Given the description of an element on the screen output the (x, y) to click on. 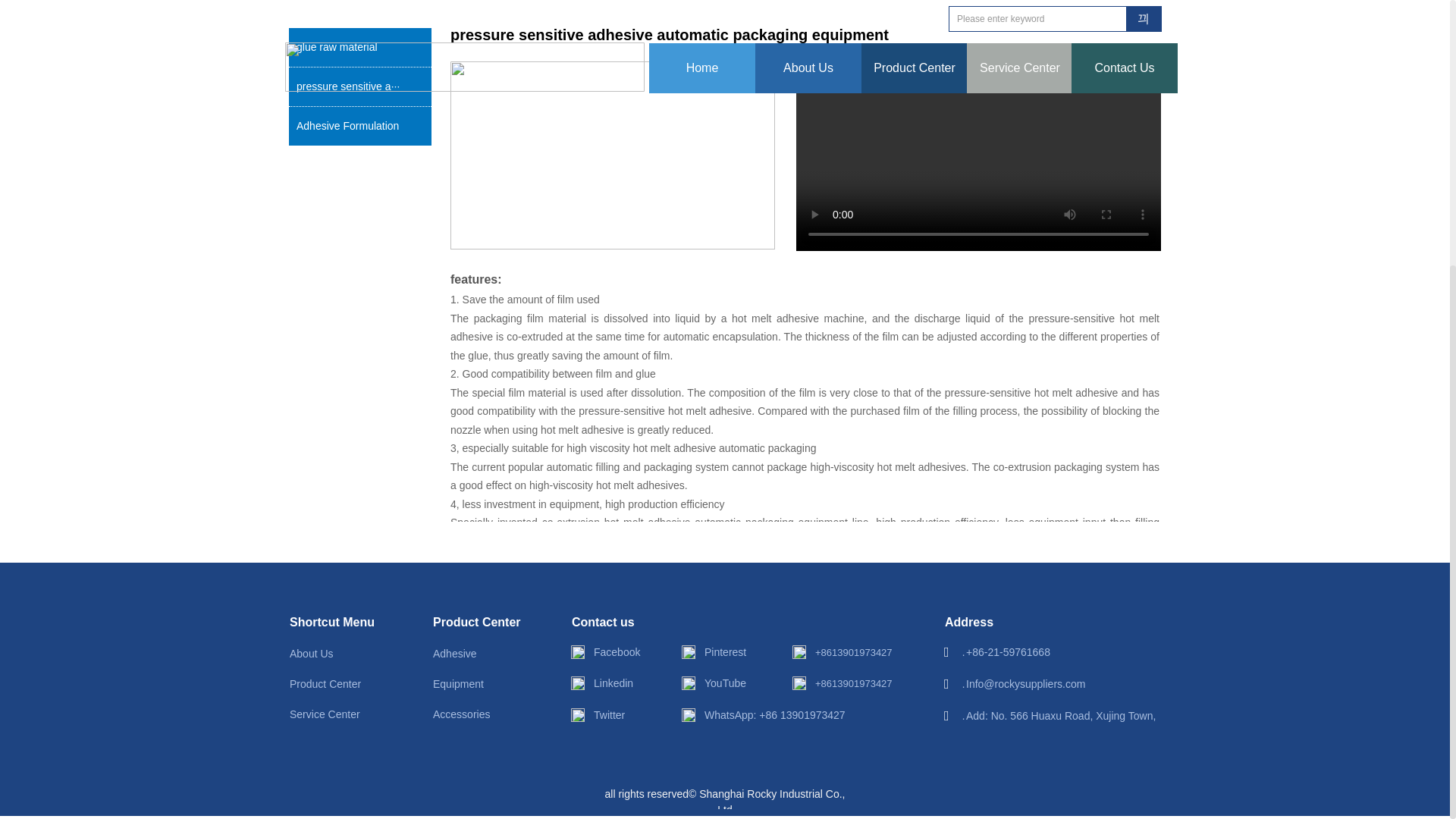
Accessories (478, 714)
Product Center (335, 684)
Facebook (622, 652)
Twitter (622, 715)
About Us (335, 653)
Service Center (335, 714)
Linkedin (622, 683)
Product Center (478, 622)
Shortcut Menu (335, 622)
glue raw material (359, 46)
Adhesive Formulation (359, 125)
Adhesive (478, 653)
Contact us (616, 622)
pressure sensitive adhesive automatic packaging equipment (359, 86)
Equipment (478, 684)
